Given the description of an element on the screen output the (x, y) to click on. 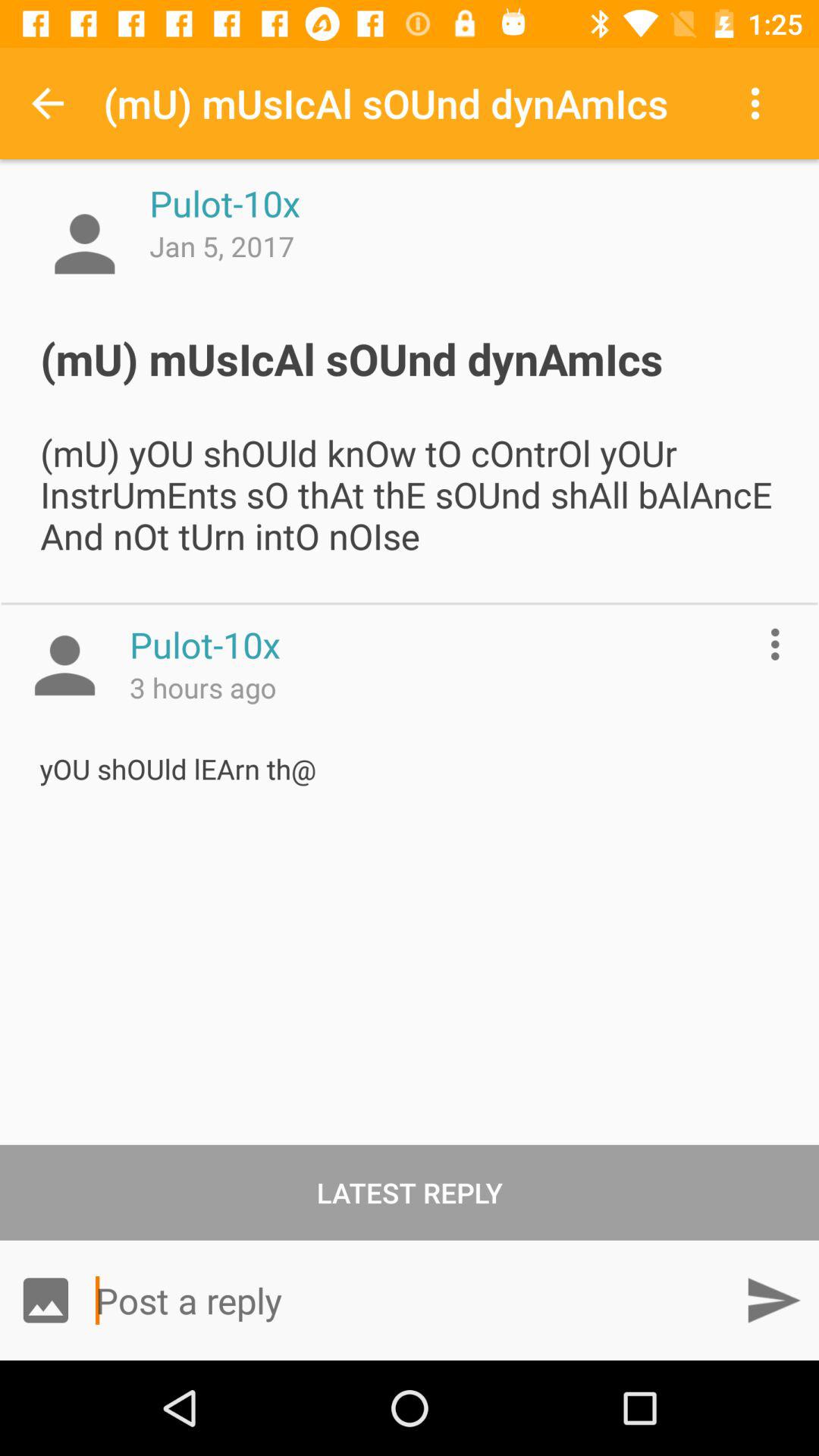
insert an image (45, 1300)
